Given the description of an element on the screen output the (x, y) to click on. 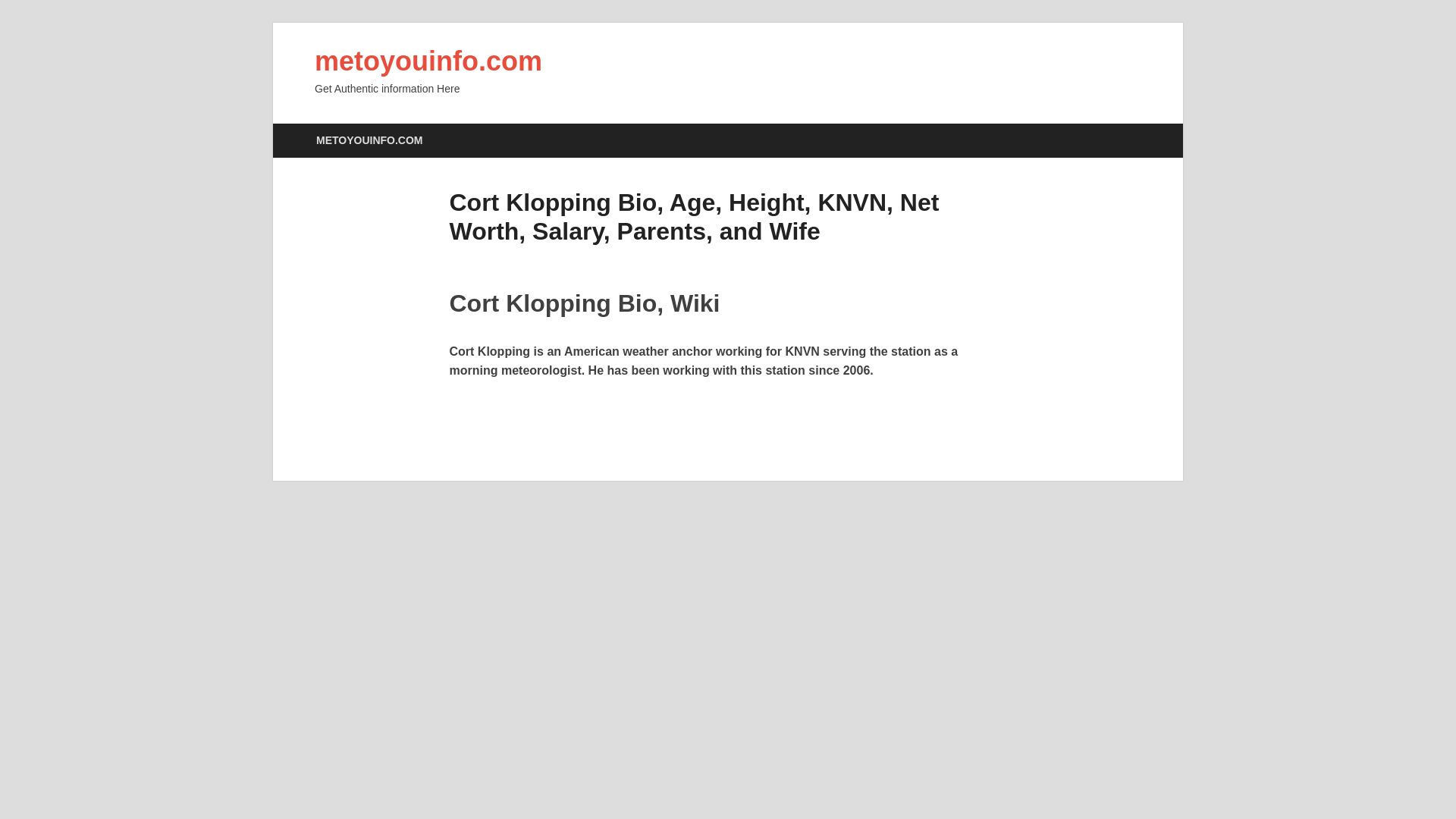
metoyouinfo.com (427, 60)
METOYOUINFO.COM (368, 140)
